Given the description of an element on the screen output the (x, y) to click on. 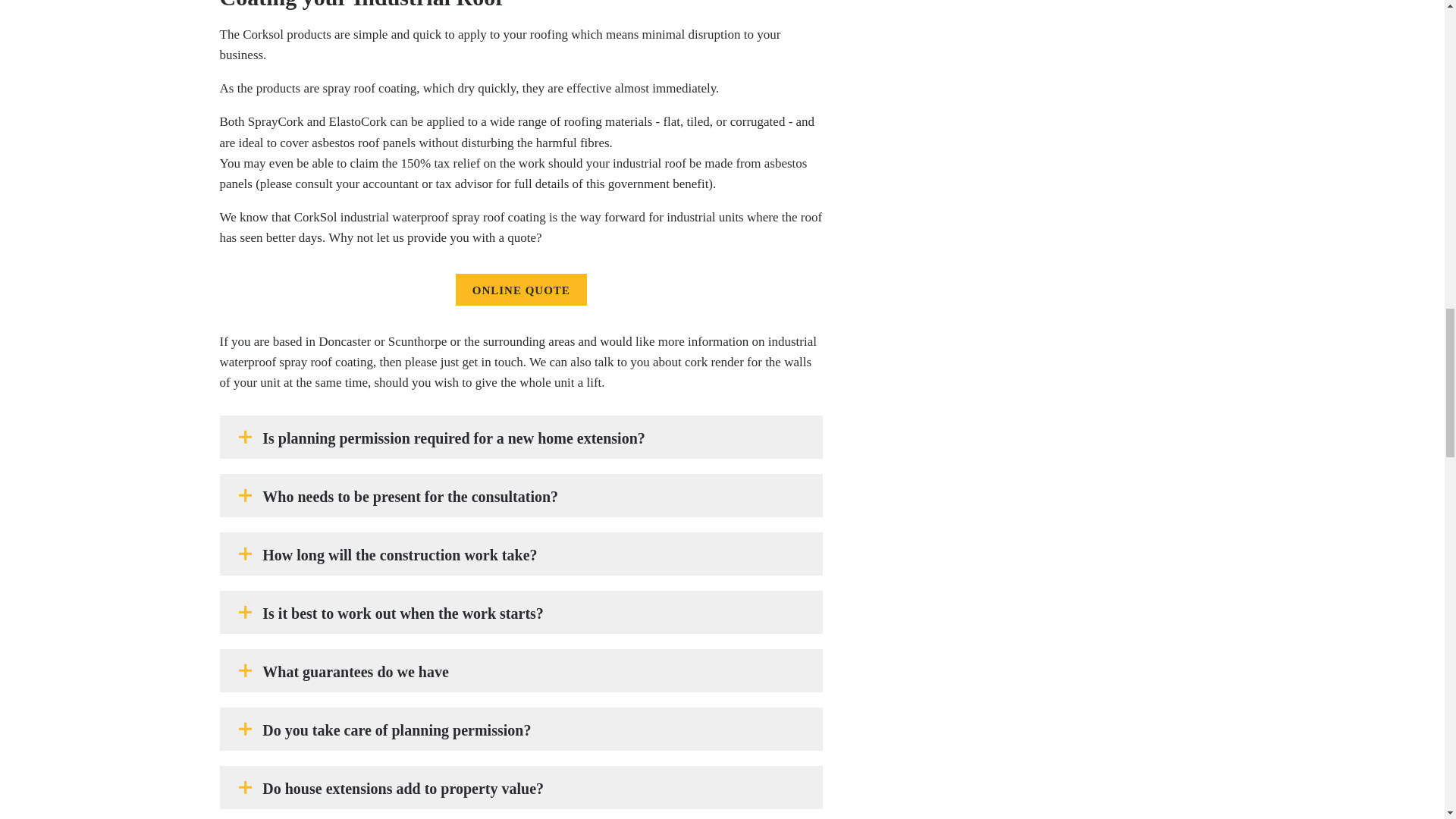
ONLINE QUOTE (520, 289)
